Given the description of an element on the screen output the (x, y) to click on. 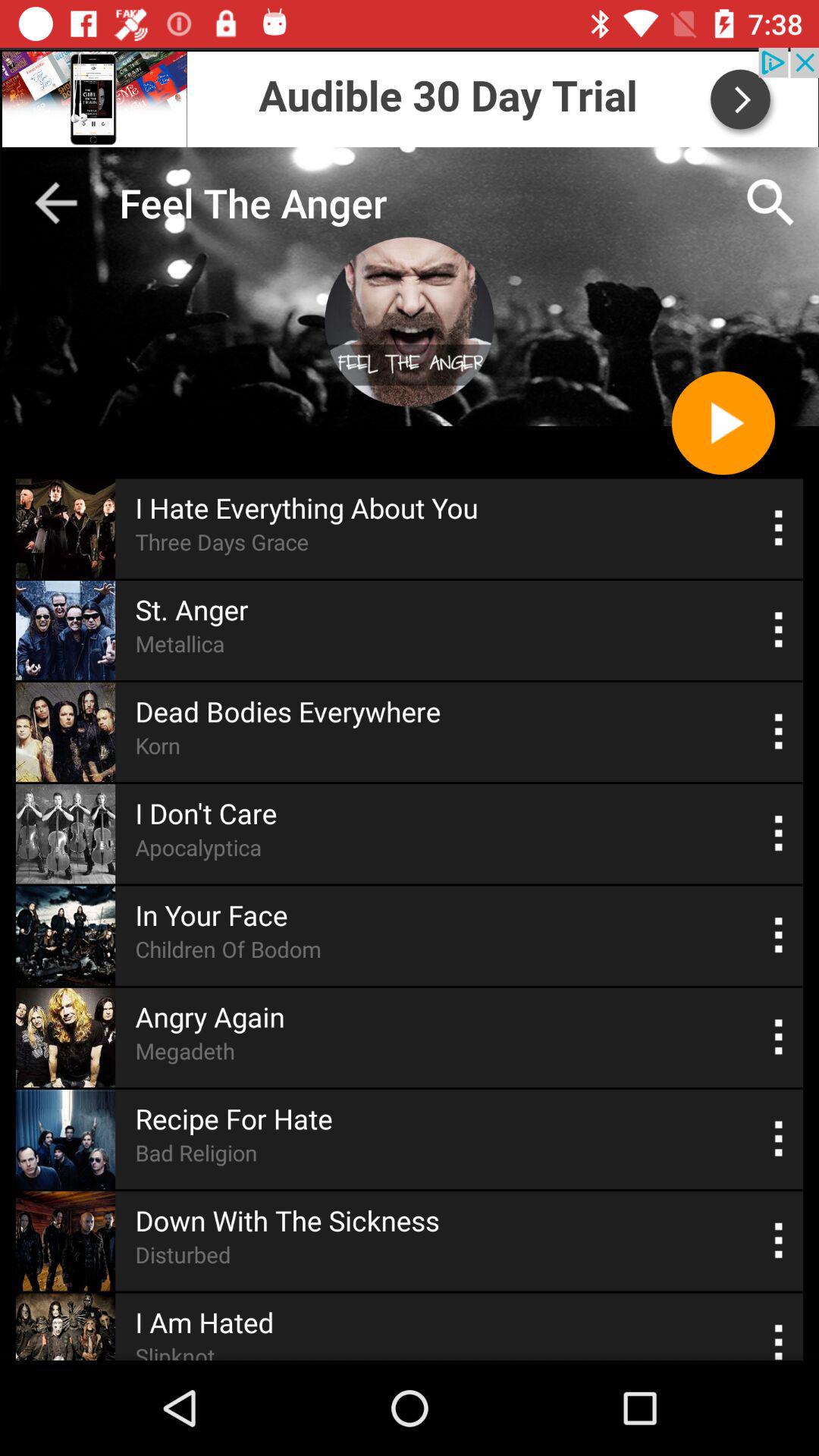
toggle more options (779, 1139)
